Given the description of an element on the screen output the (x, y) to click on. 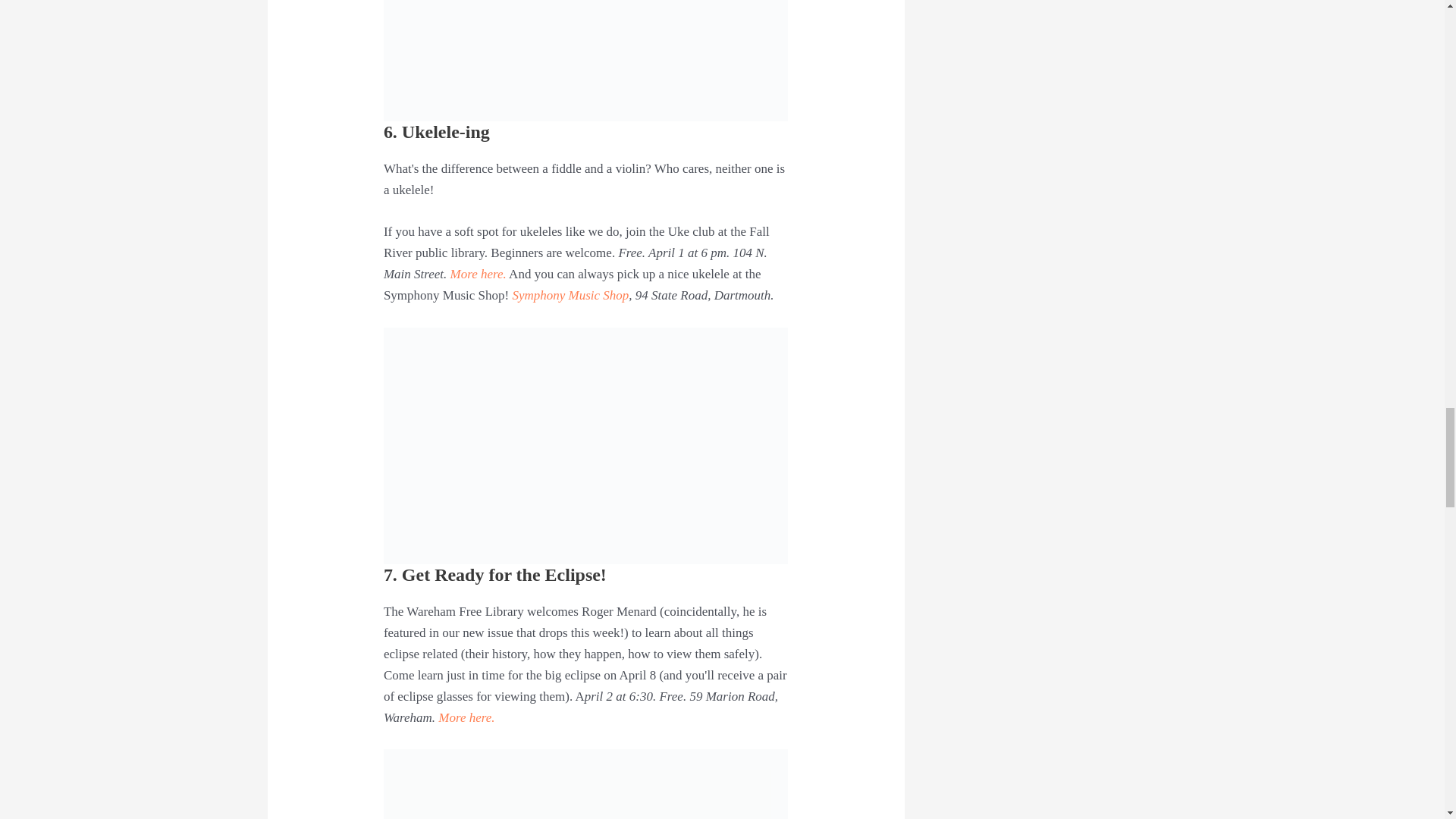
Symphony Music Shop (570, 295)
More here. (466, 717)
More here. (477, 273)
